Given the description of an element on the screen output the (x, y) to click on. 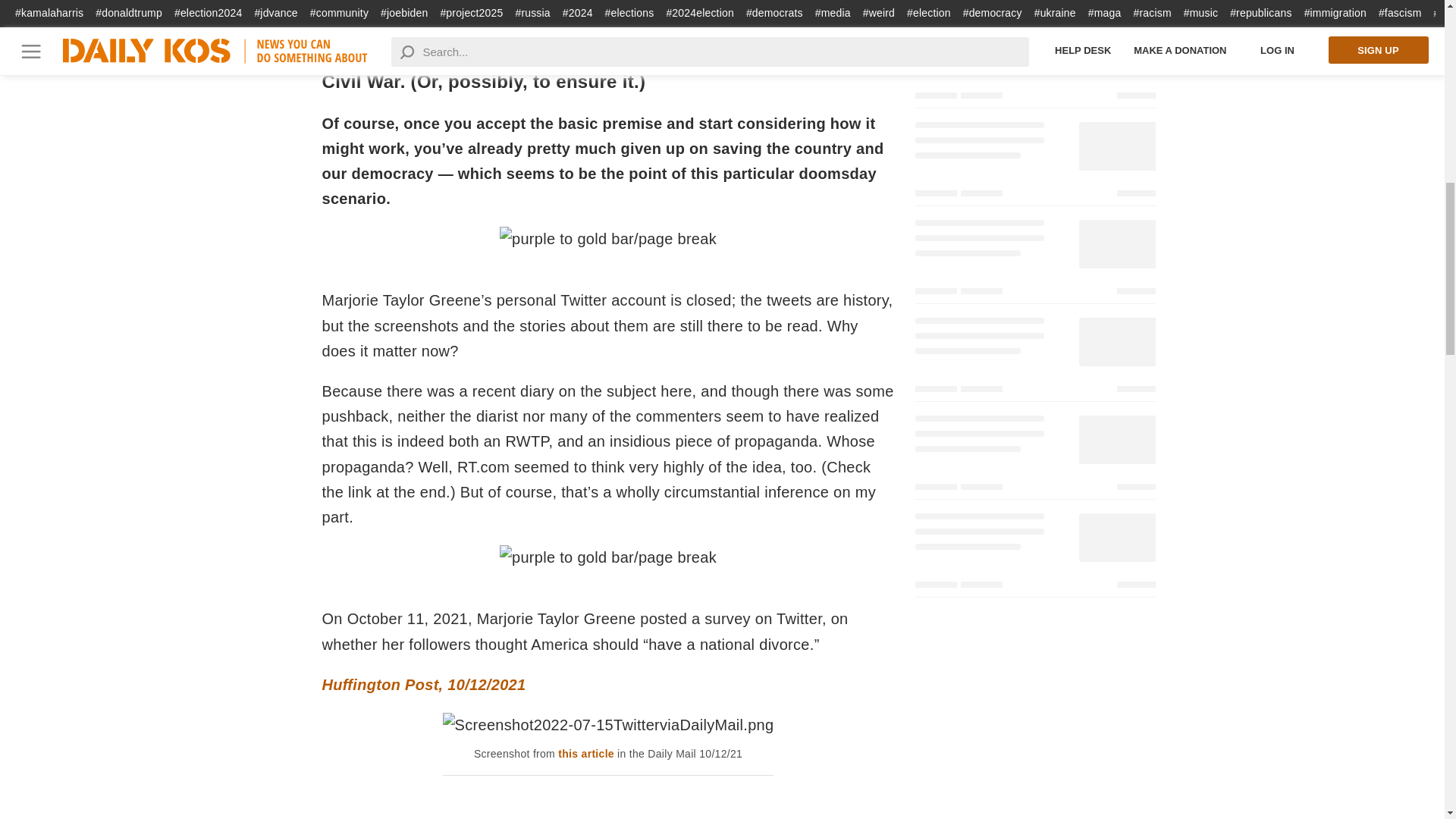
Loading... (1034, 161)
Loading... (1034, 454)
Loading... (1034, 259)
Loading... (1034, 357)
Loading... (1034, 6)
Loading... (1034, 553)
Loading... (1034, 63)
